Given the description of an element on the screen output the (x, y) to click on. 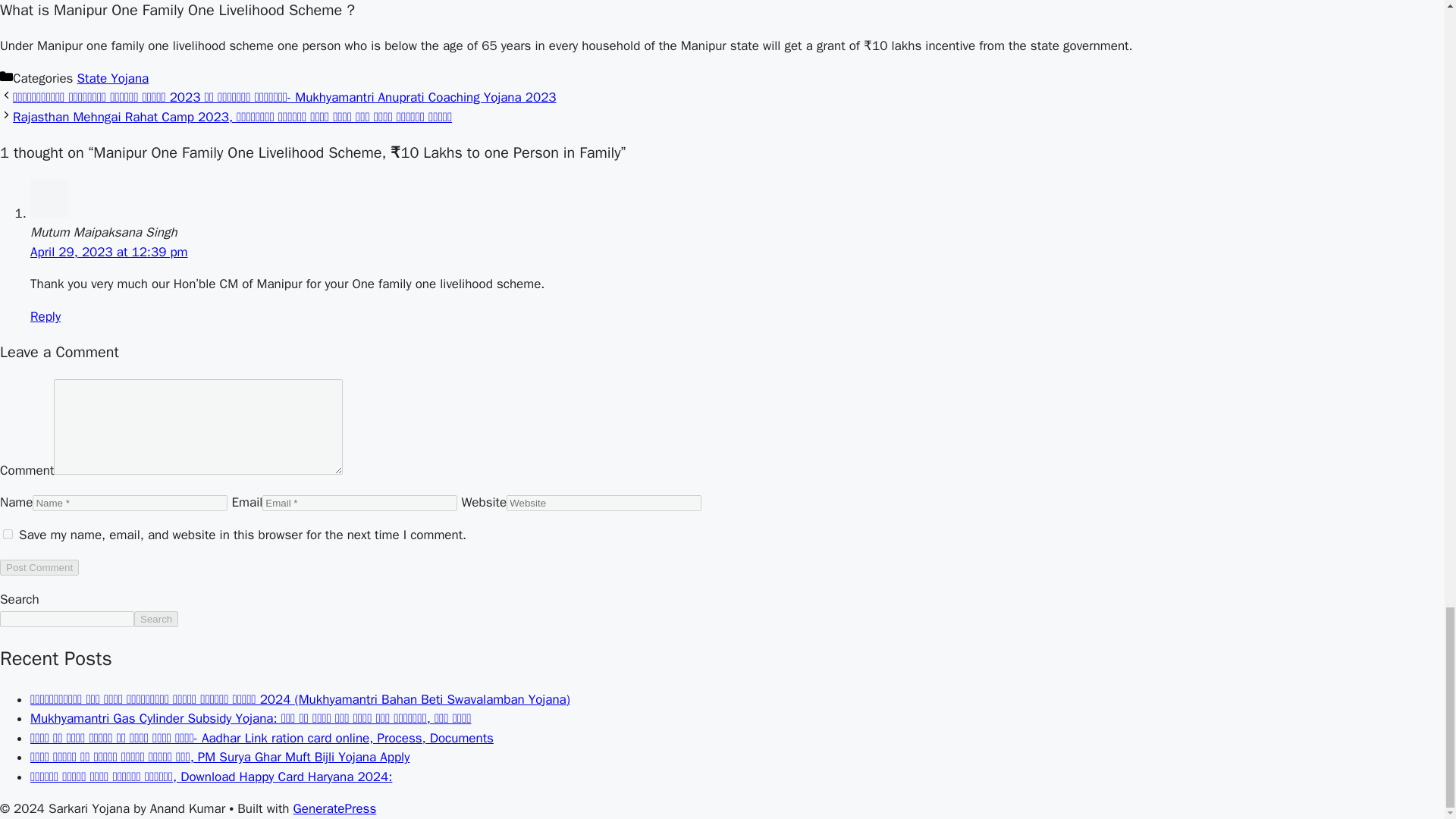
Search (155, 618)
State Yojana (113, 78)
April 29, 2023 at 12:39 pm (108, 252)
Reply (45, 316)
Post Comment (39, 567)
Post Comment (39, 567)
yes (7, 533)
